Given the description of an element on the screen output the (x, y) to click on. 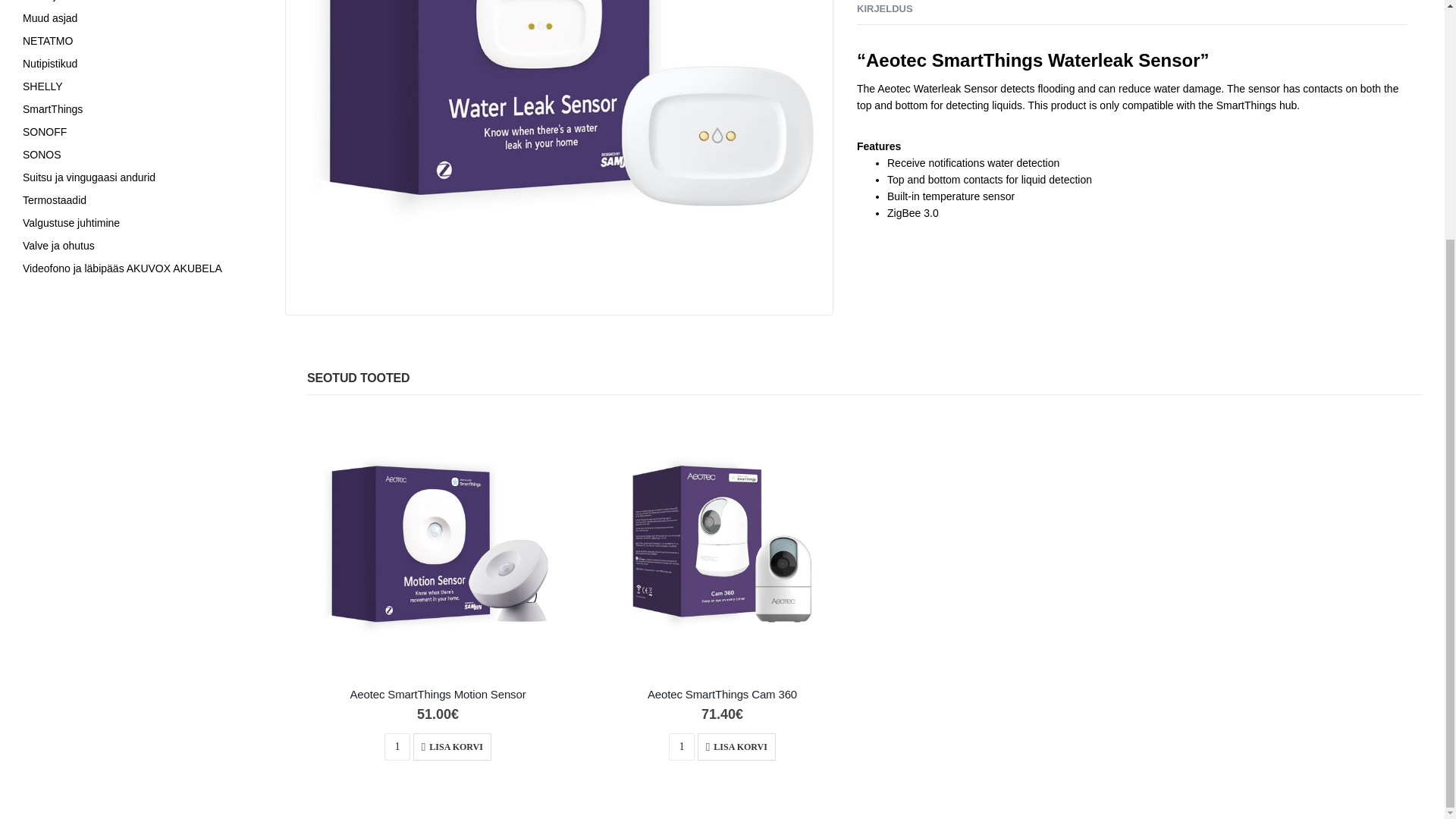
Aeotec SmartThings Cam 360 (722, 694)
1 (681, 746)
Aeotec SmartThings Motion Sensor (438, 694)
LISA KORVI (452, 746)
1 (397, 746)
